Given the description of an element on the screen output the (x, y) to click on. 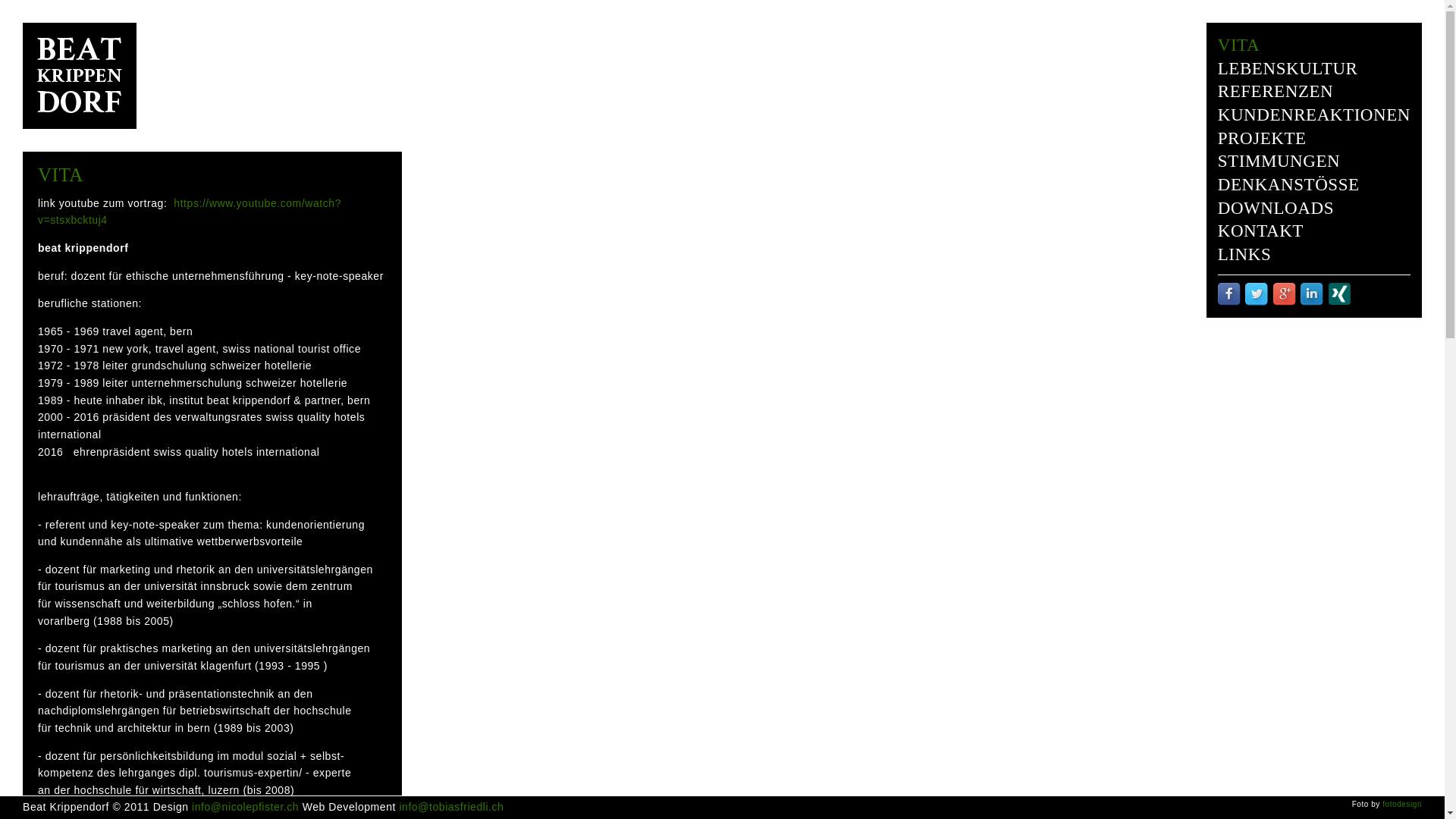
KONTAKT Element type: text (1260, 230)
fotodesign Element type: text (1401, 804)
REFERENZEN Element type: text (1275, 90)
LINKS Element type: text (1244, 253)
info@tobiasfriedli.ch Element type: text (450, 806)
LEBENSKULTUR Element type: text (1287, 68)
https://www.youtube.com/watch?v=stsxbcktuj4 Element type: text (189, 211)
KUNDENREAKTIONEN Element type: text (1313, 114)
PROJEKTE Element type: text (1261, 137)
STIMMUNGEN Element type: text (1278, 160)
VITA Element type: text (1238, 44)
DOWNLOADS Element type: text (1275, 207)
info@nicolepfister.ch Element type: text (244, 806)
